Given the description of an element on the screen output the (x, y) to click on. 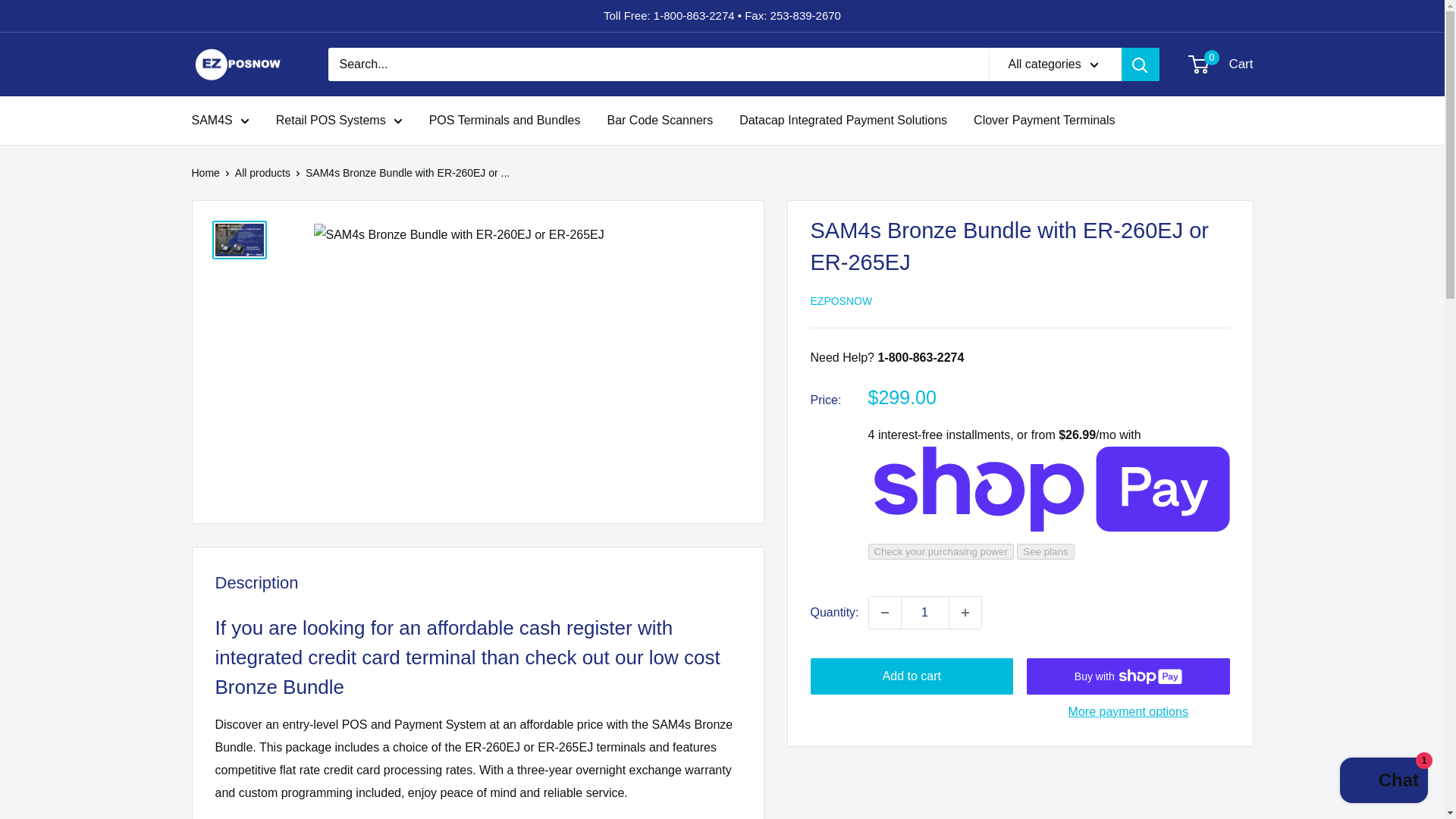
Bar Code Scanners (660, 119)
Datacap Integrated Payment Solutions (1221, 64)
POS Terminals and Bundles (843, 119)
EZPOSNOW (504, 119)
SAM4S (243, 64)
Clover Payment Terminals (219, 119)
Decrease quantity by 1 (1044, 119)
Retail POS Systems (885, 612)
1 (339, 119)
Shopify online store chat (925, 612)
Increase quantity by 1 (1383, 781)
